Given the description of an element on the screen output the (x, y) to click on. 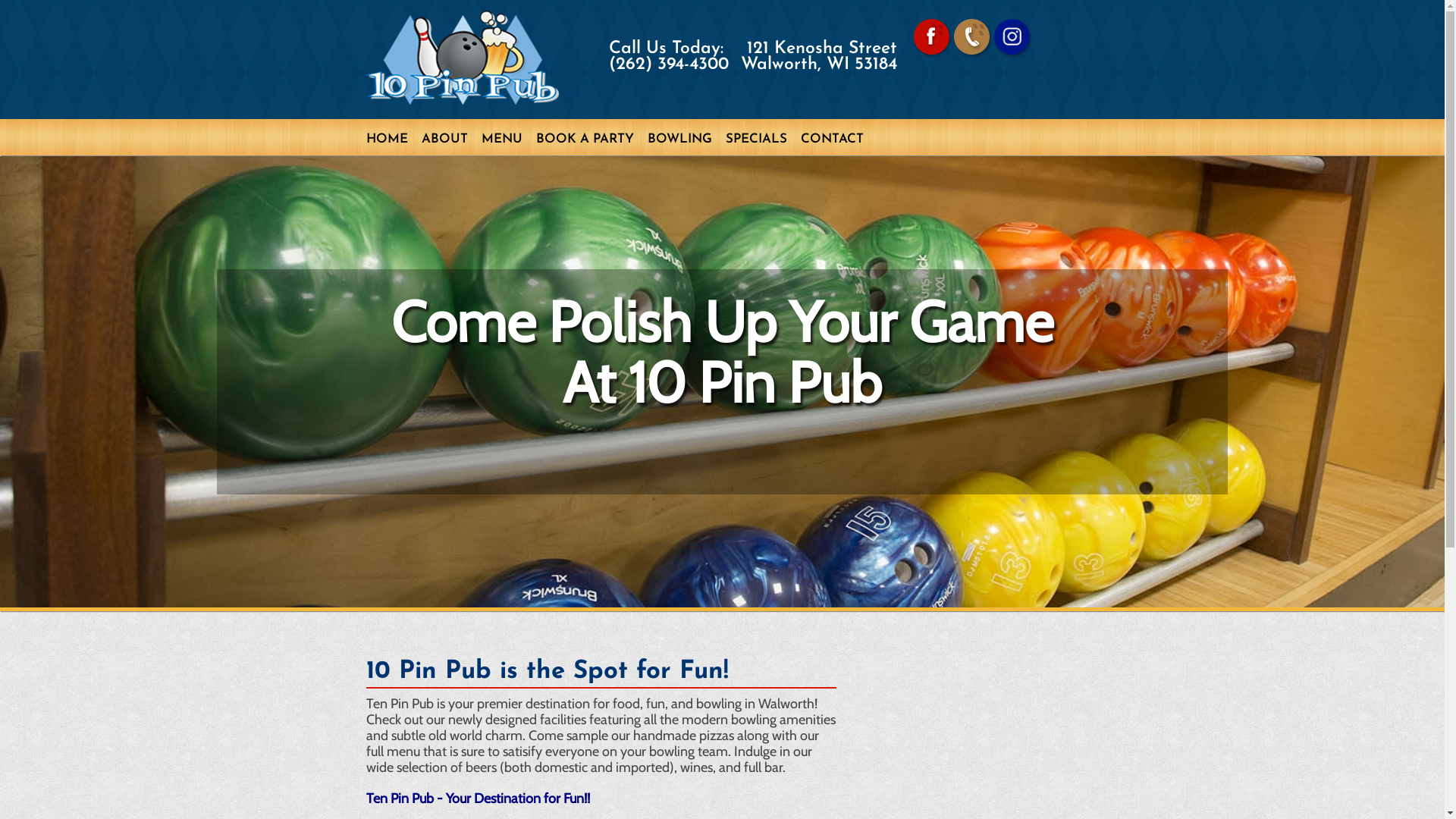
BOWLING Element type: text (679, 157)
CONTACT Element type: text (831, 157)
ABOUT Element type: text (444, 157)
MENU Element type: text (500, 157)
   Element type: text (1060, 25)
SPECIALS Element type: text (755, 157)
Like us on Facebook Element type: hover (931, 38)
Skip to main content Element type: text (60, 0)
Share This - 10 Pin Pub Element type: hover (972, 38)
BOOK A PARTY Element type: text (584, 157)
HOME Element type: text (386, 157)
10 Pin Pub & Bowling Element type: hover (461, 57)
